Given the description of an element on the screen output the (x, y) to click on. 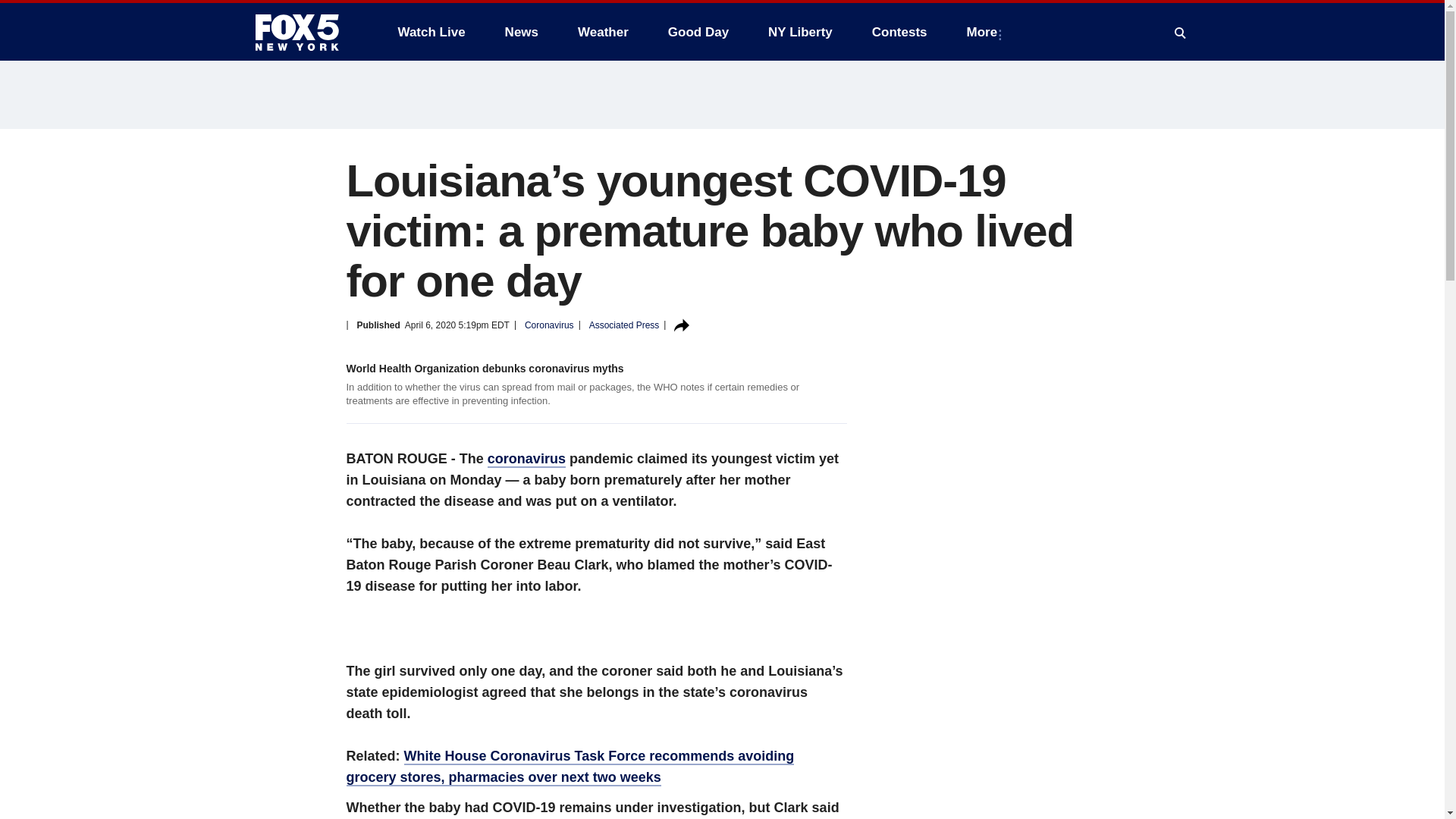
Watch Live (431, 32)
Good Day (698, 32)
Weather (603, 32)
NY Liberty (799, 32)
News (521, 32)
Contests (899, 32)
More (985, 32)
